Given the description of an element on the screen output the (x, y) to click on. 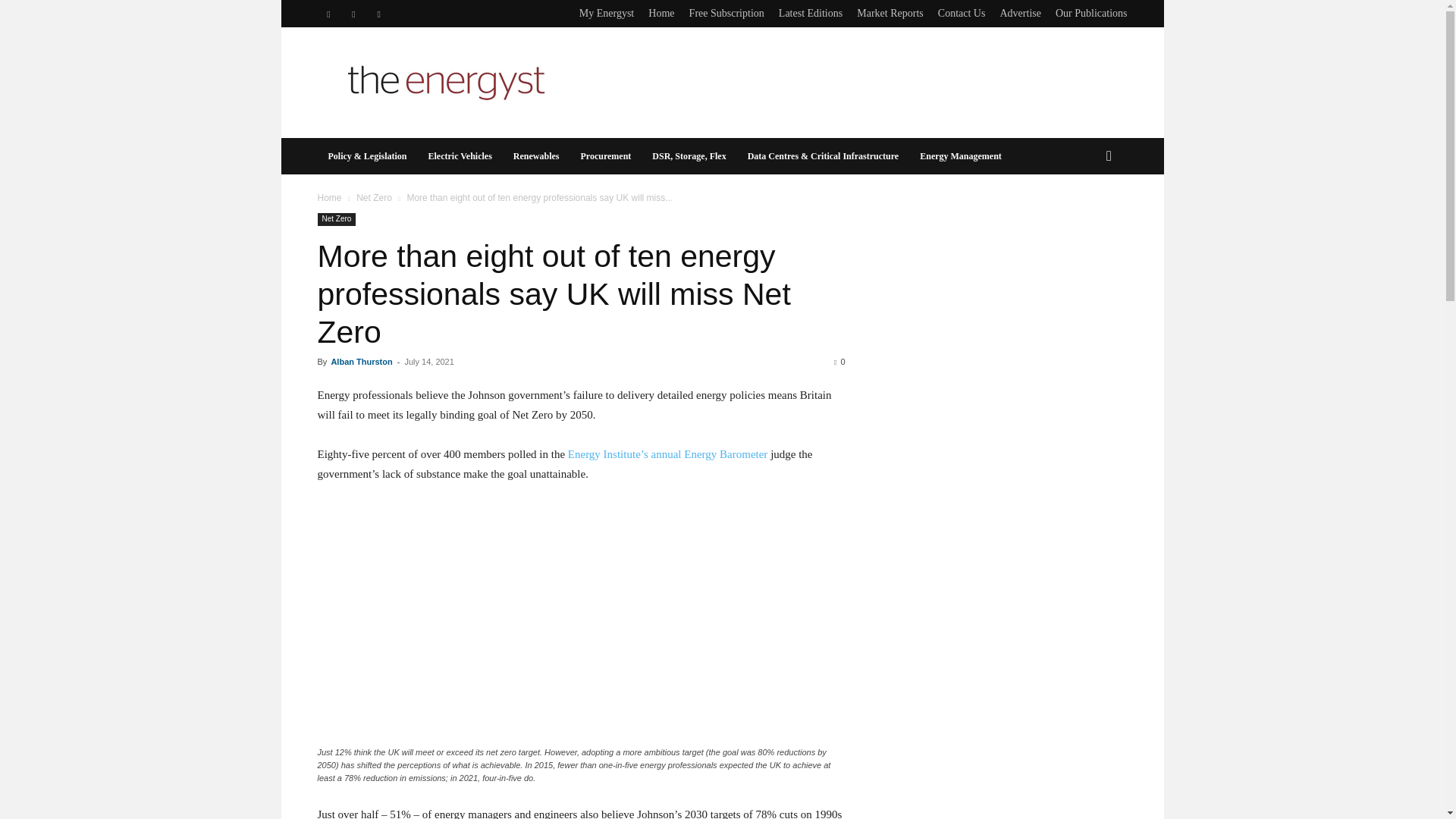
Home (328, 197)
Latest Editions (810, 12)
Renewables (536, 156)
Electric Vehicles (459, 156)
Our Publications (1090, 12)
Procurement (605, 156)
Search (1085, 216)
Free Subscription (726, 12)
Market Reports (890, 12)
Energy Management (959, 156)
